Given the description of an element on the screen output the (x, y) to click on. 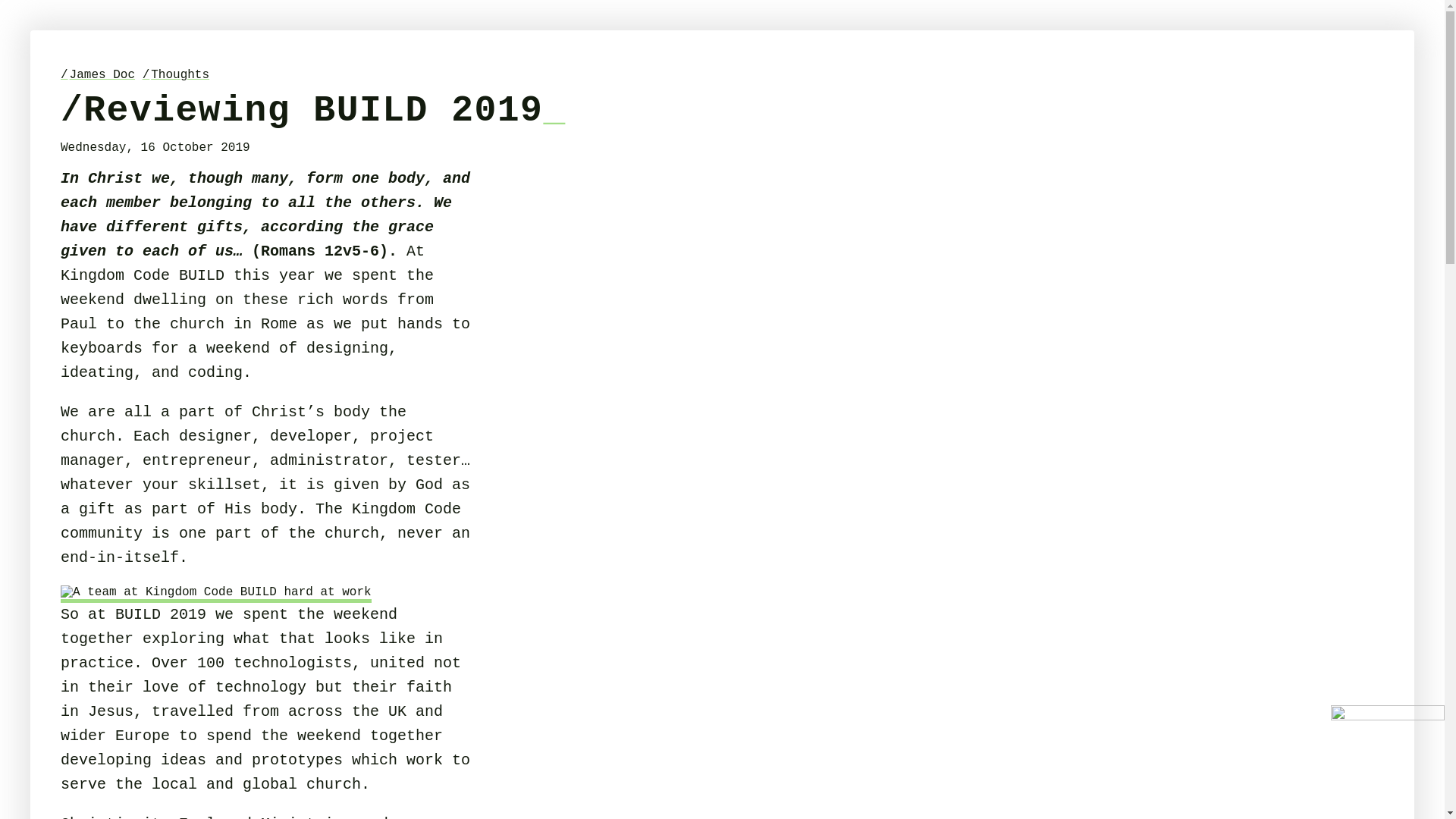
Christianity Explored Ministries (206, 816)
Thoughts (175, 74)
James Doc (98, 74)
